Given the description of an element on the screen output the (x, y) to click on. 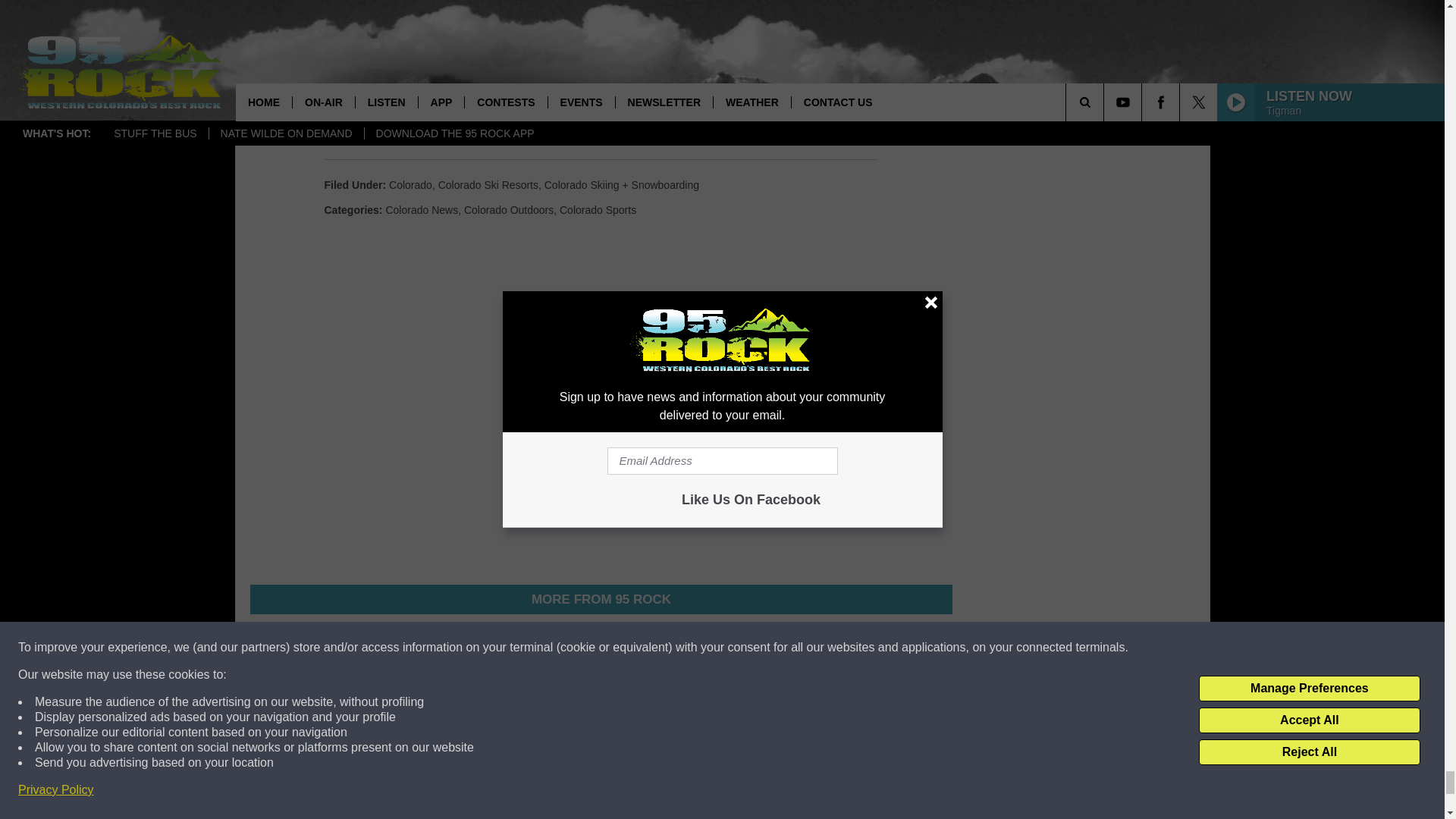
Email Address (600, 111)
